Given the description of an element on the screen output the (x, y) to click on. 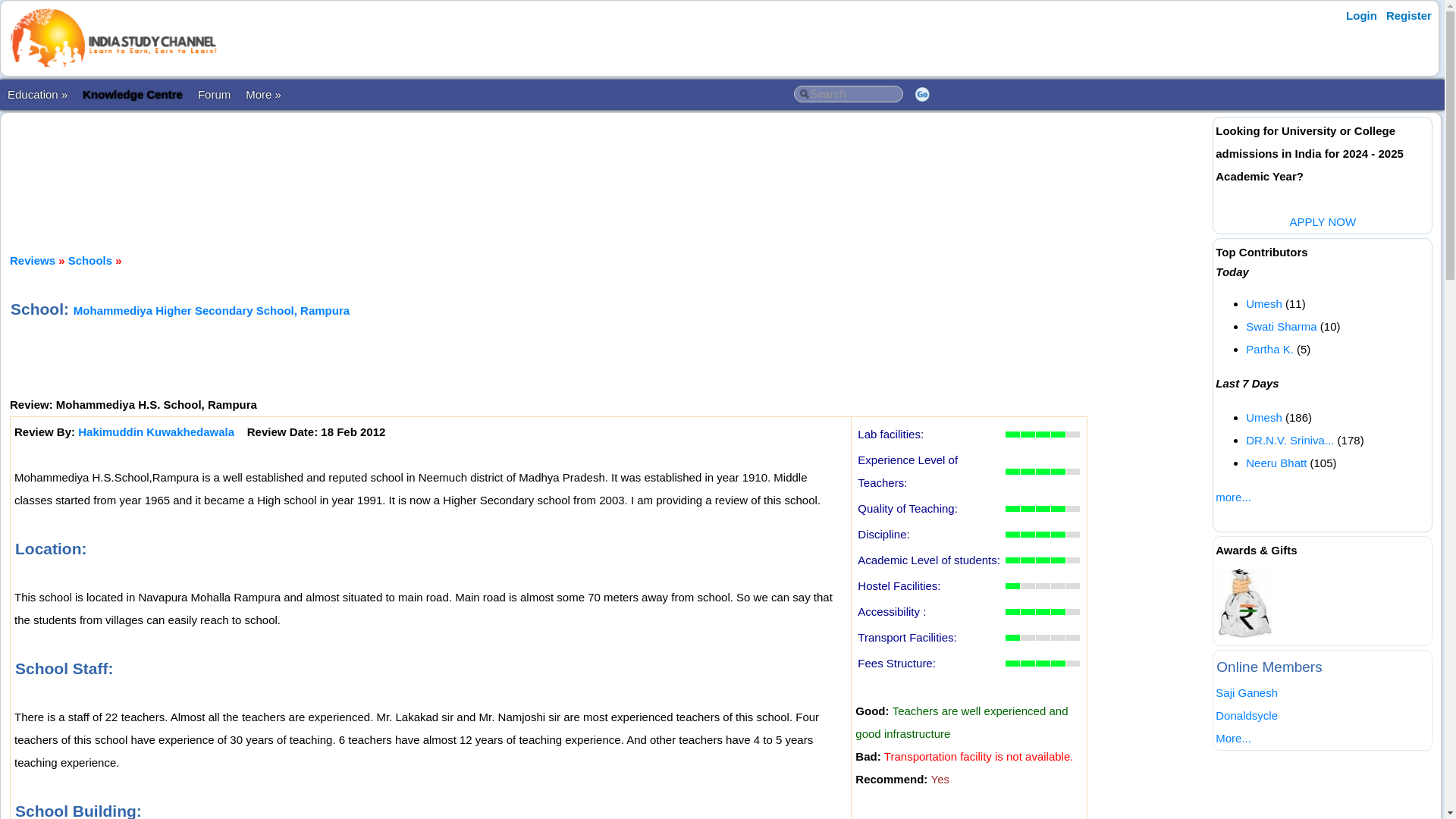
Schools (90, 259)
APPLY NOW (1321, 221)
Hakimuddin Kuwakhedawala (156, 431)
Search (847, 93)
Forum (214, 94)
Mohammediya Higher Secondary School, Rampura (211, 309)
Umesh (1264, 303)
School Mohammediya Higher Secondary School, Rampura (211, 309)
Search (847, 93)
Knowledge Centre (132, 94)
Reviews (32, 259)
Login (1361, 15)
Register (1409, 15)
